Given the description of an element on the screen output the (x, y) to click on. 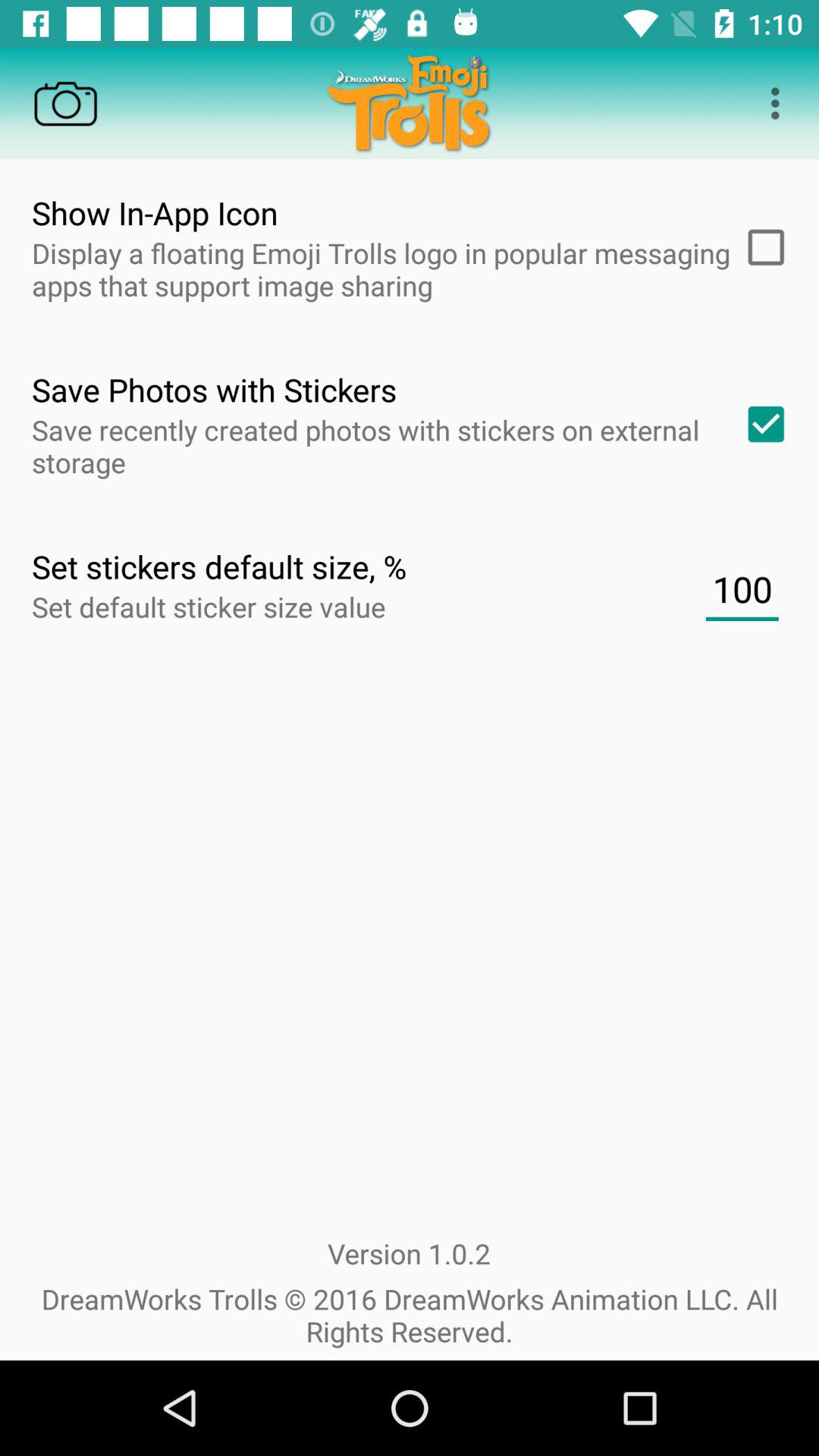
click item next to display a floating item (760, 247)
